Given the description of an element on the screen output the (x, y) to click on. 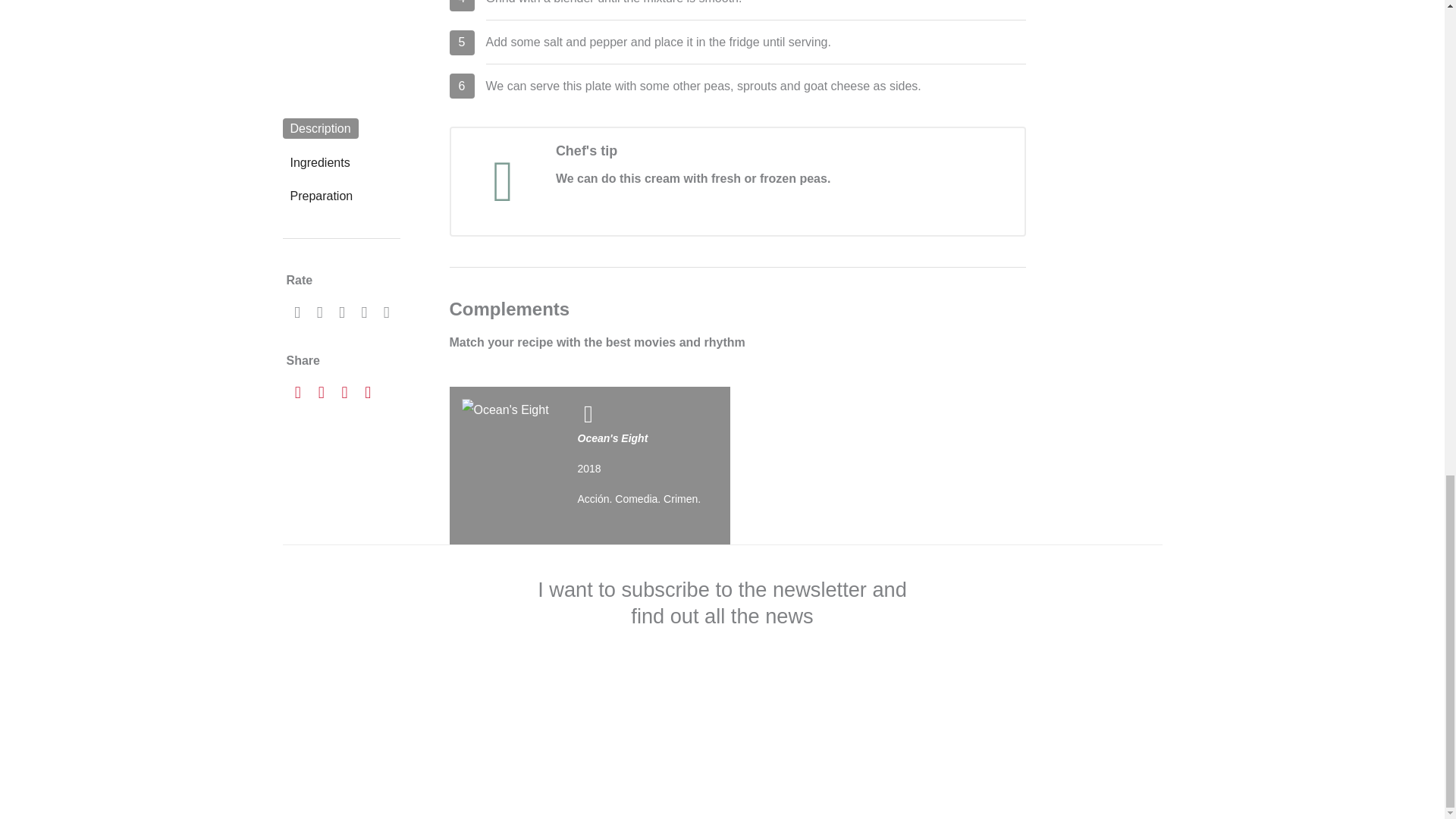
Spotify (884, 465)
